Given the description of an element on the screen output the (x, y) to click on. 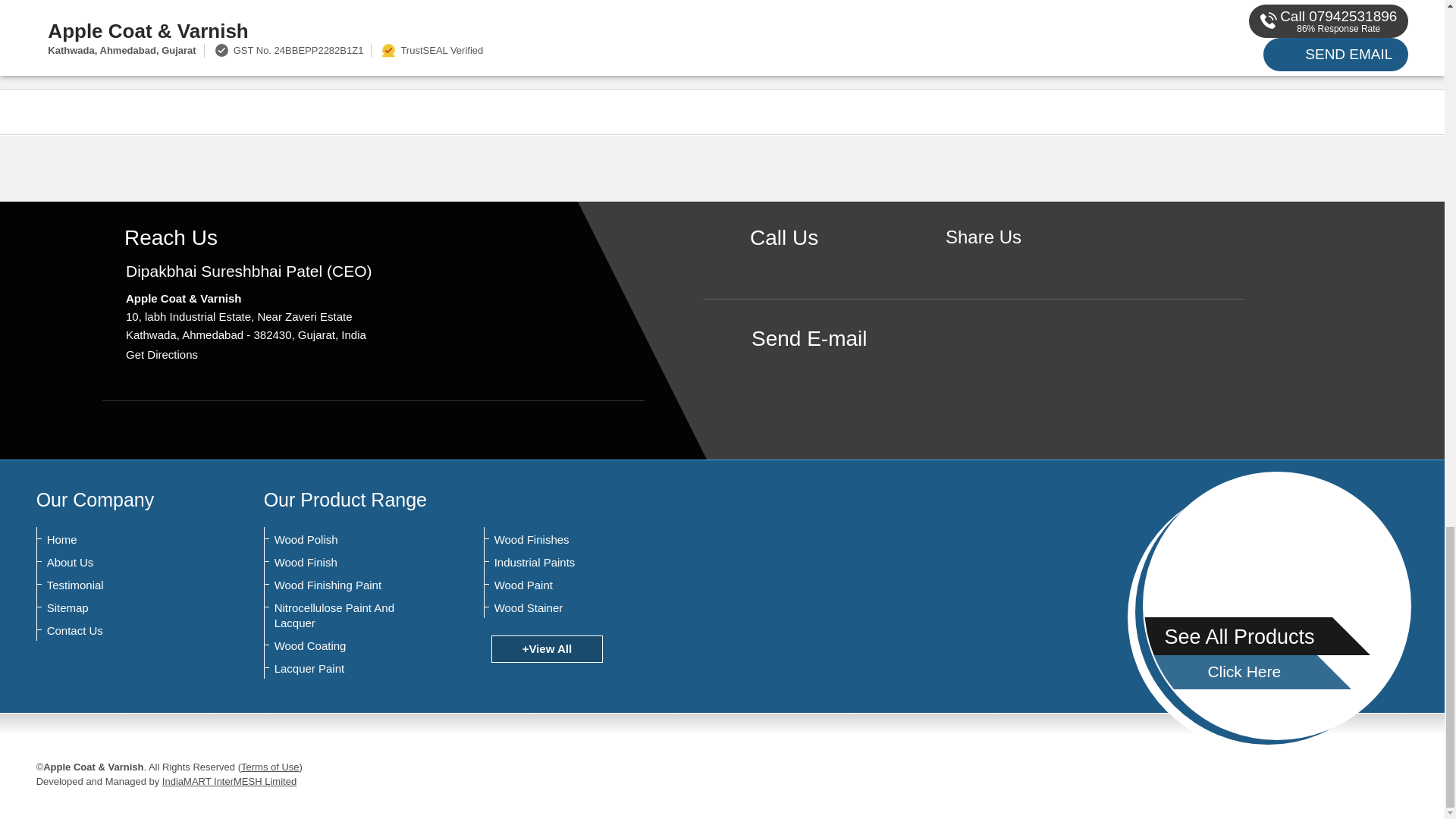
Home (121, 539)
Facebook (983, 262)
About Us (121, 562)
LinkedIn (1029, 262)
Testimonial (121, 585)
Sitemap (121, 607)
Get Directions (161, 354)
Twitter (1006, 262)
